Given the description of an element on the screen output the (x, y) to click on. 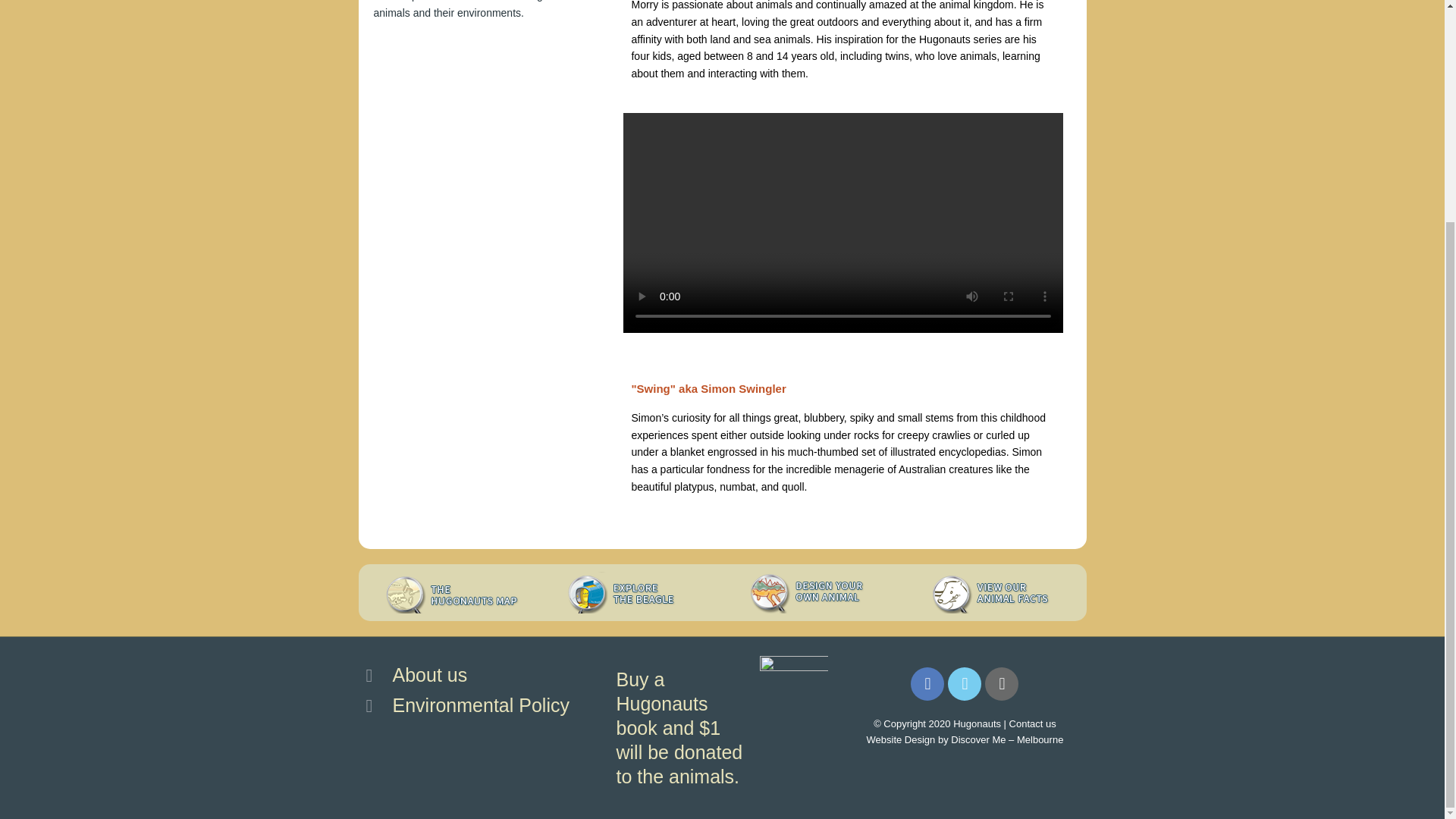
Contact us (1033, 723)
Environmental Policy (478, 705)
About us (478, 675)
